Given the description of an element on the screen output the (x, y) to click on. 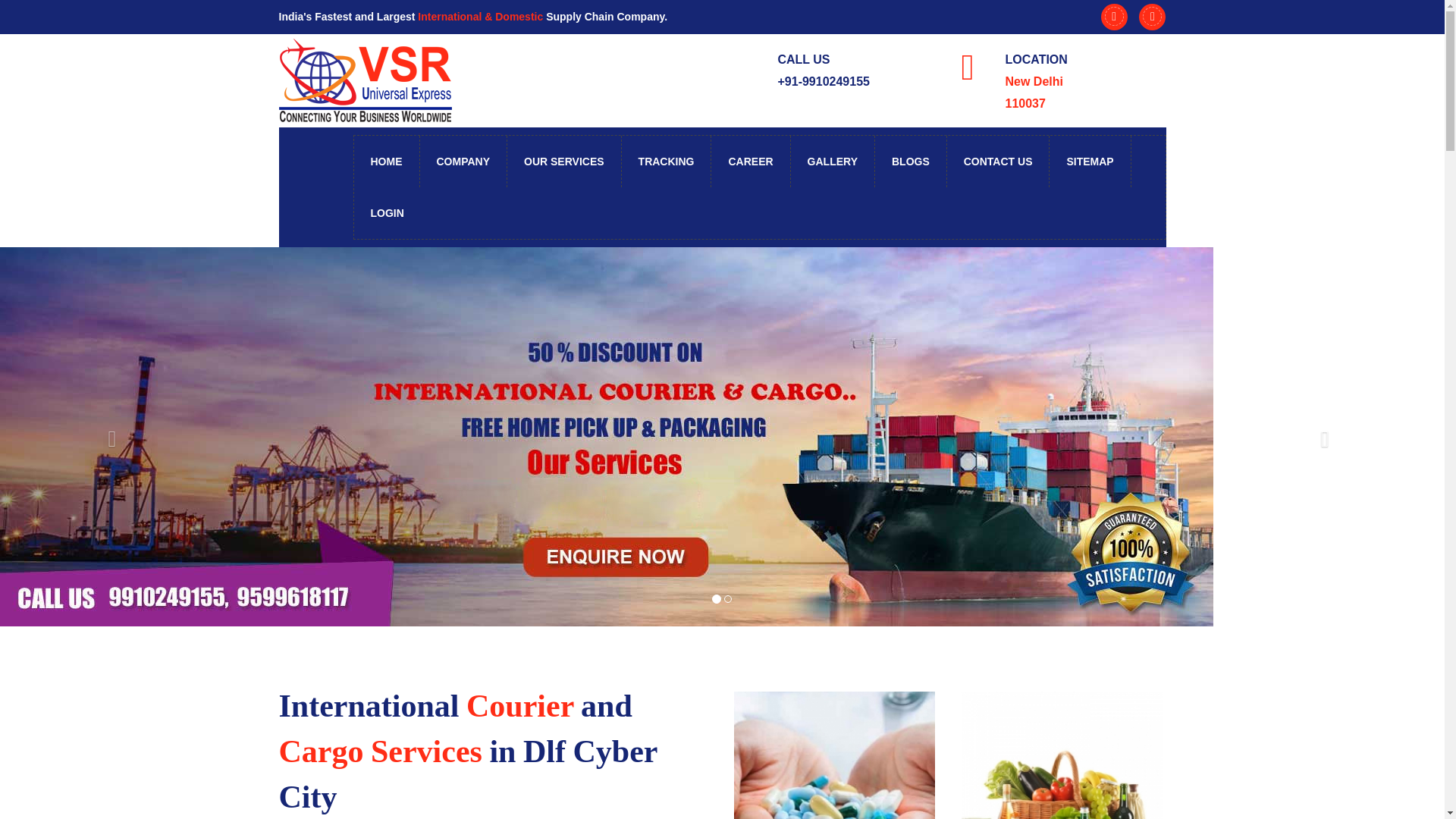
COMPANY (464, 161)
Our Services (563, 161)
VSR Universal Express (365, 80)
Career (750, 161)
SITEMAP (1090, 161)
BLOGS (911, 161)
Tracking (666, 161)
HOME (386, 161)
TRACKING (666, 161)
GALLERY (832, 161)
Home (386, 161)
Company (464, 161)
LOGIN (386, 213)
OUR SERVICES (563, 161)
CONTACT US (998, 161)
